Given the description of an element on the screen output the (x, y) to click on. 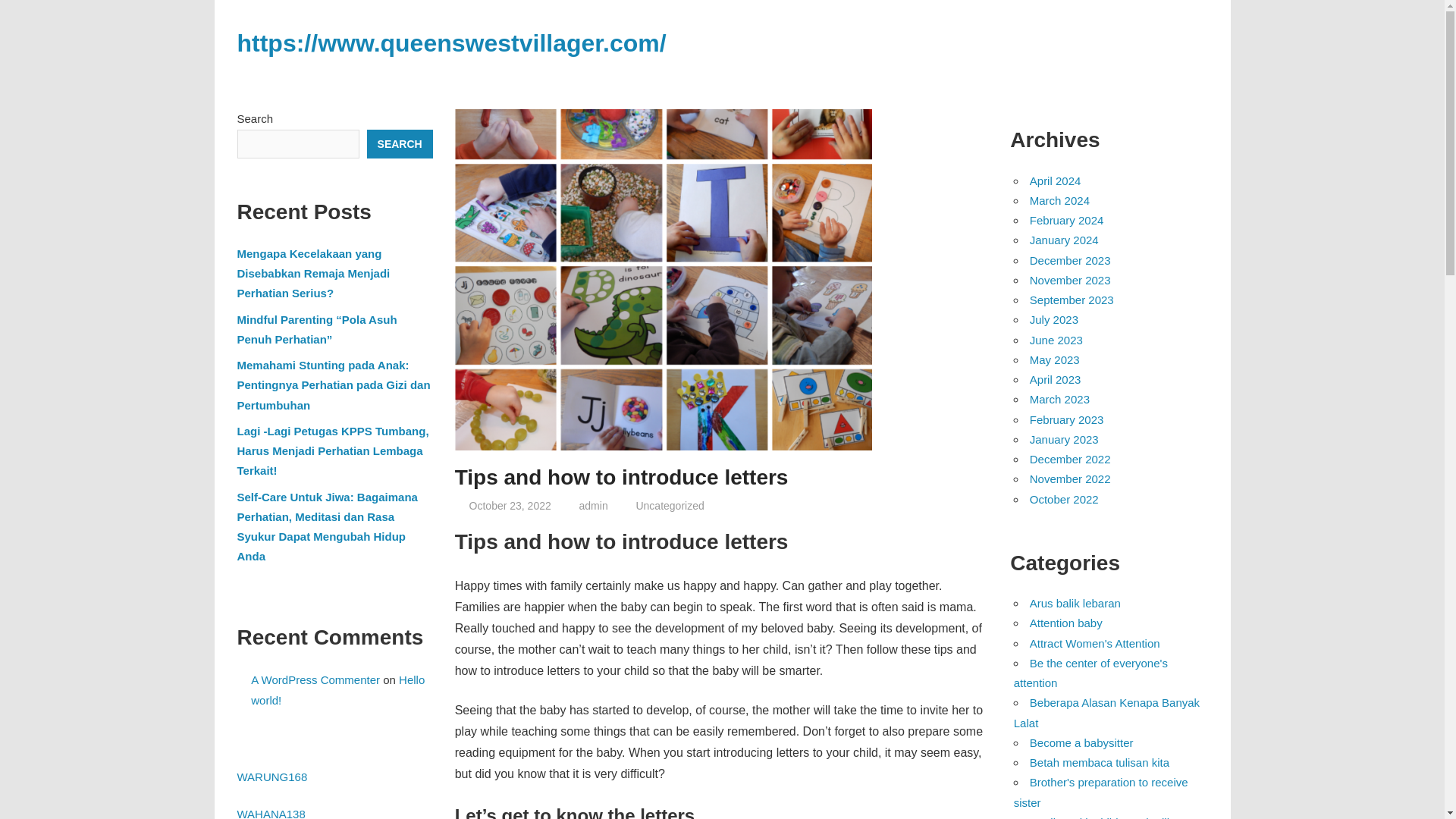
View all posts by admin (593, 505)
March 2024 (1059, 200)
July 2023 (1053, 318)
October 23, 2022 (509, 505)
January 2024 (1064, 239)
Uncategorized (668, 505)
December 2023 (1069, 259)
WARUNG168 (271, 776)
